Given the description of an element on the screen output the (x, y) to click on. 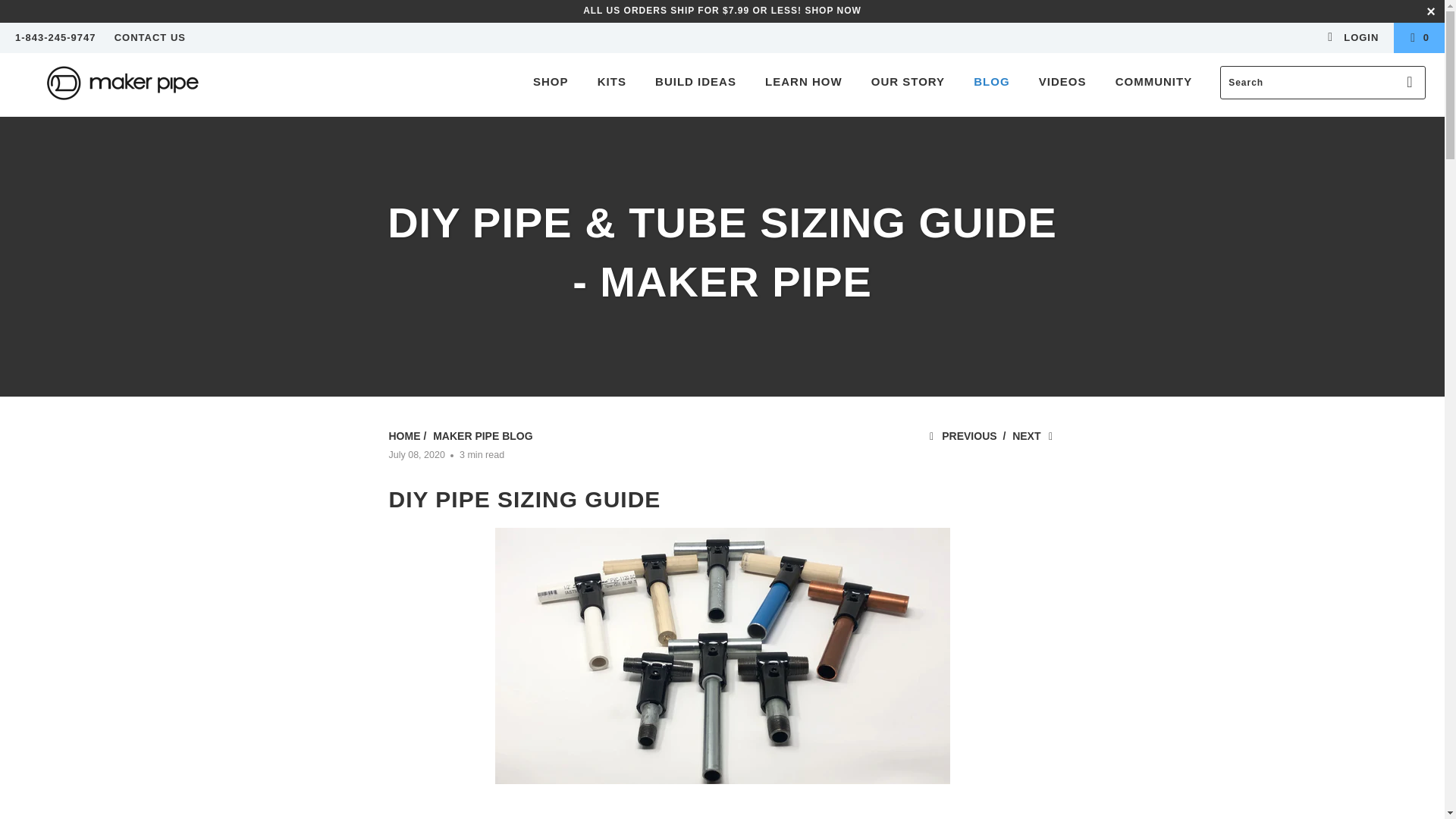
Maker Pipe Blog (482, 435)
All Products (722, 9)
Maker Pipe (122, 85)
CONTACT US (150, 37)
Maker Pipe (404, 435)
1-843-245-9747 (55, 37)
My Account  (1351, 37)
